Given the description of an element on the screen output the (x, y) to click on. 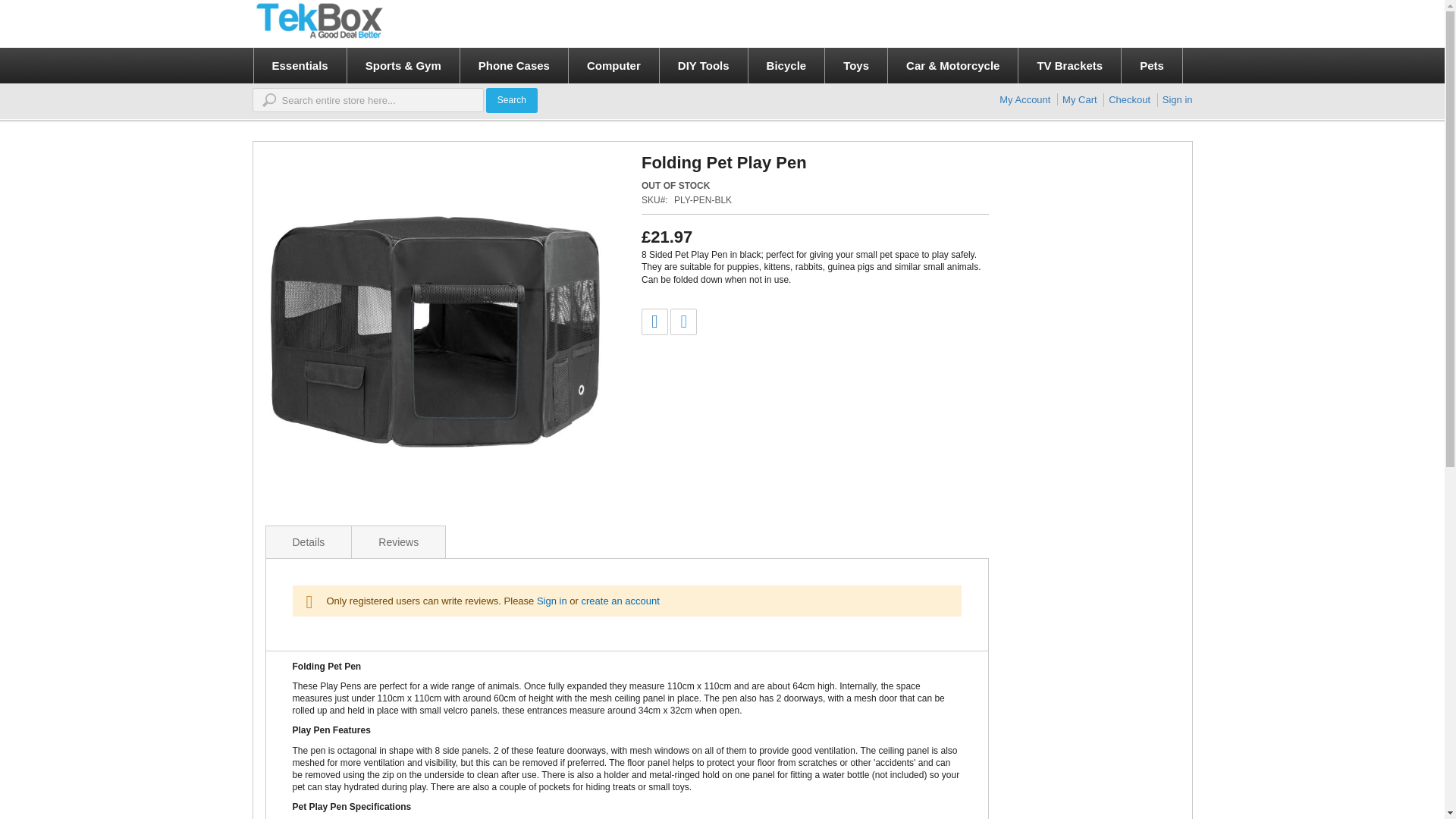
Details (308, 541)
Toys (856, 65)
create an account (619, 600)
Checkout (1129, 99)
Share on Twitter (683, 321)
Sign in (552, 600)
Essentials (300, 65)
Customer reviews powered by Trustpilot (1076, 10)
My Cart (1079, 100)
Search (511, 100)
Search (511, 100)
Reviews (397, 541)
Bicycle (786, 65)
DIY Tools (703, 65)
Pets (1151, 65)
